Given the description of an element on the screen output the (x, y) to click on. 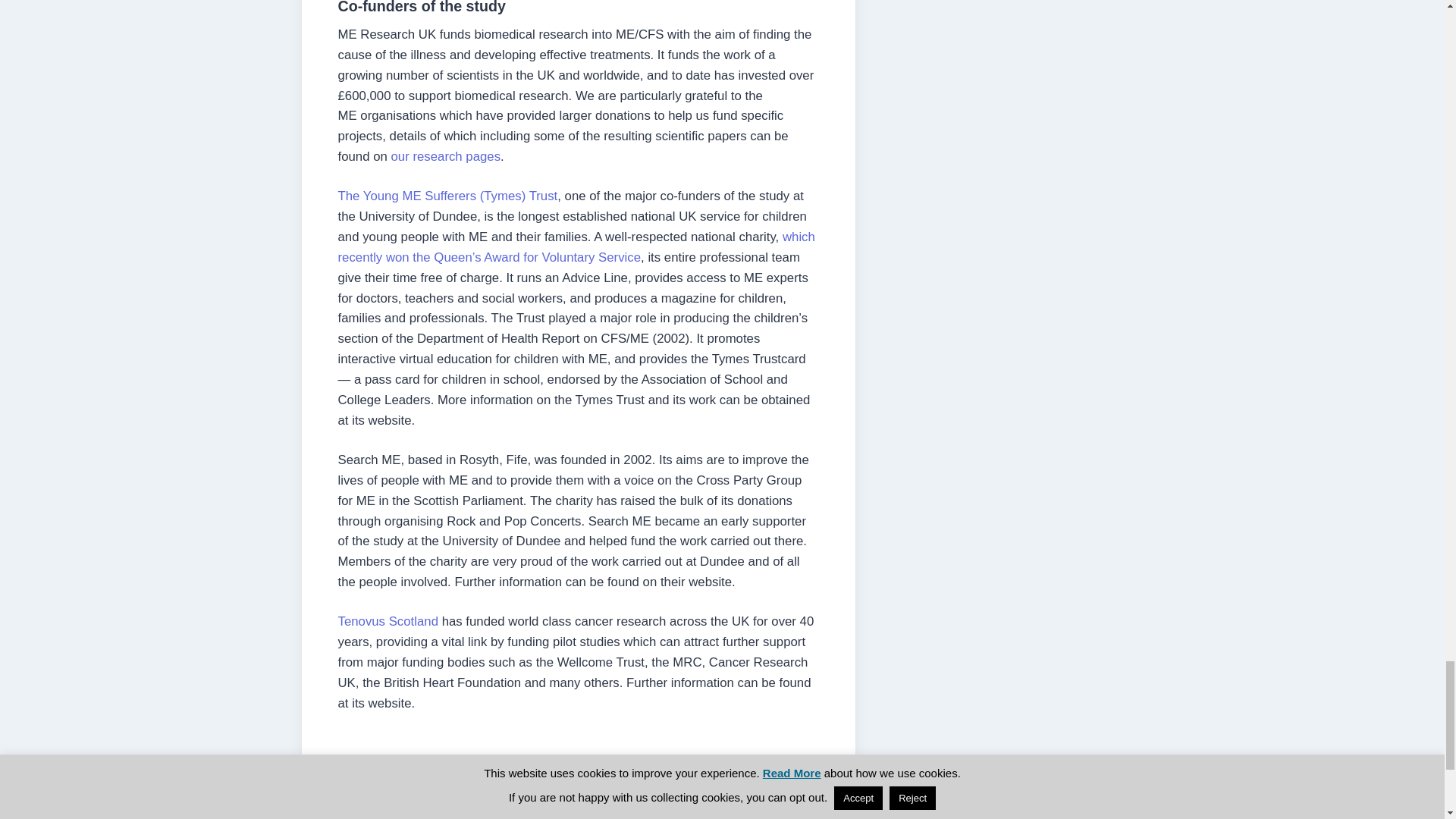
Published studies (445, 156)
